Given the description of an element on the screen output the (x, y) to click on. 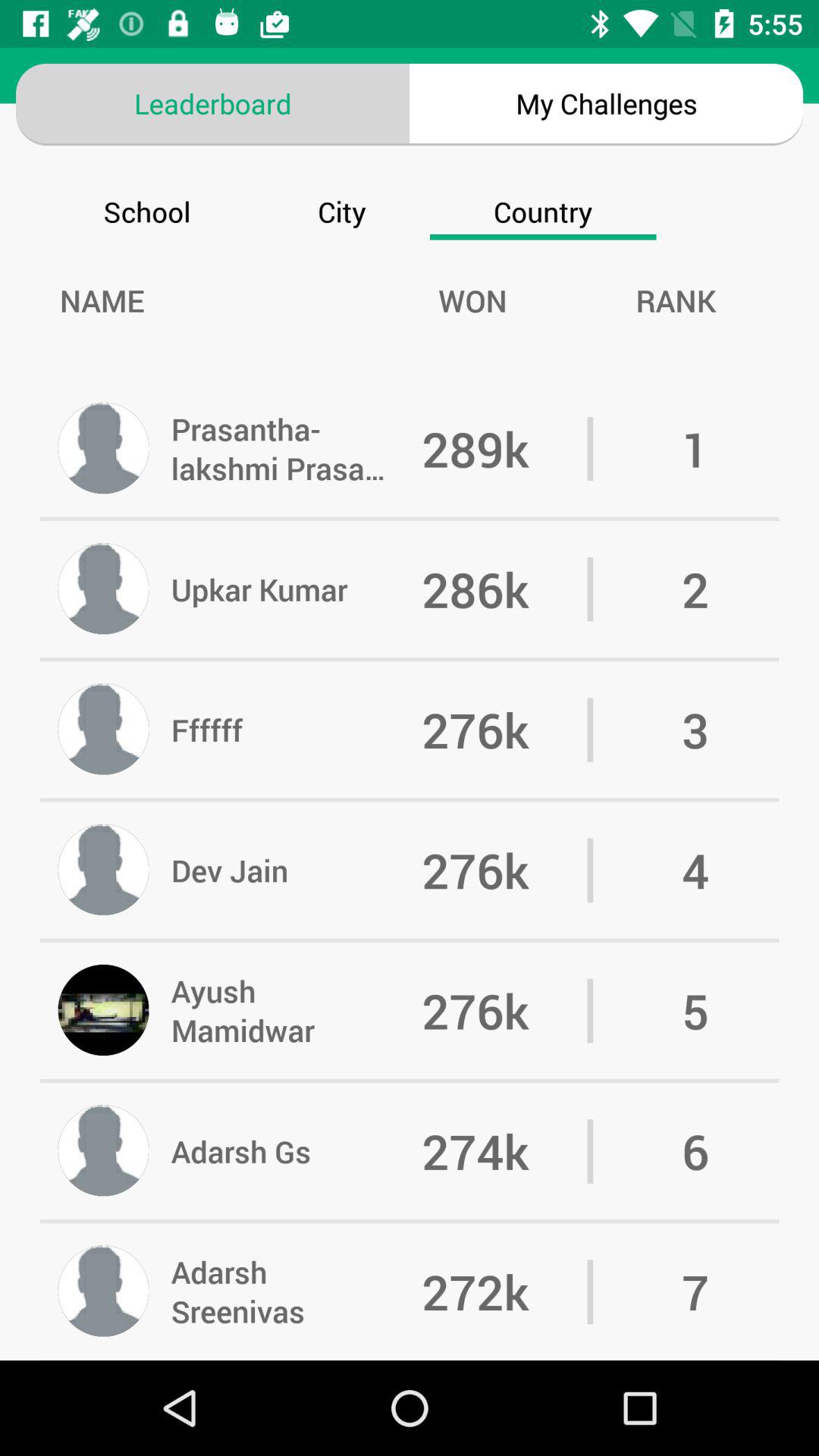
move to the text which is right to the text adarsh gs (505, 1150)
select the image icon left side of text  ayush mamidwar (103, 1010)
click on the second user icon in which the name is upkar kumar (103, 588)
country (542, 201)
leaderboard (212, 103)
